Given the description of an element on the screen output the (x, y) to click on. 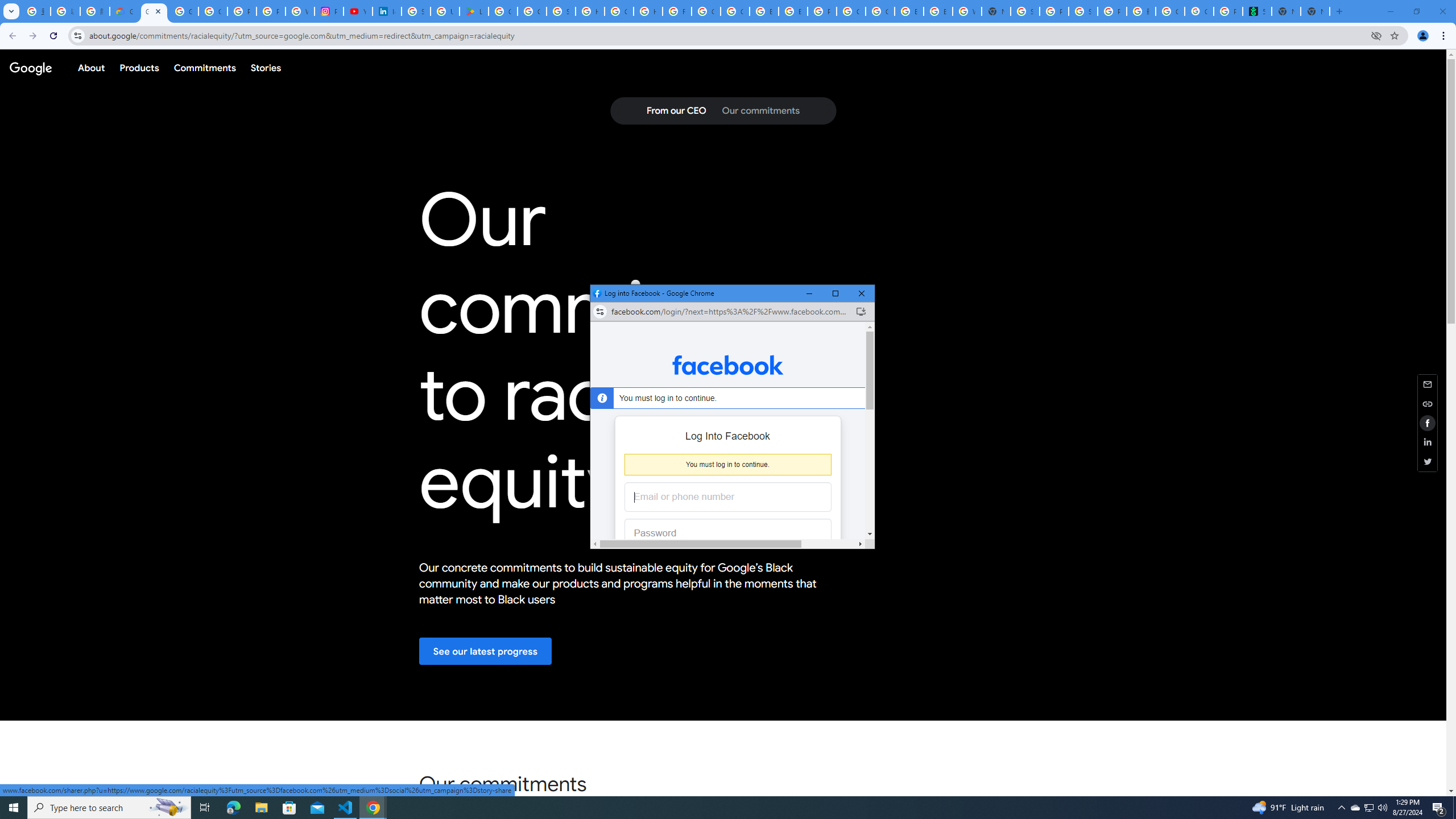
Install Facebook (860, 311)
Search highlights icon opens search home window (1368, 807)
Start (167, 807)
Action Center, 2 new notifications (13, 807)
Notification Chevron (1439, 807)
Type here to search (1341, 807)
User Promoted Notification Area (108, 807)
File Explorer (1368, 807)
Visual Studio Code - 1 running window (261, 807)
Facebook (345, 807)
